Given the description of an element on the screen output the (x, y) to click on. 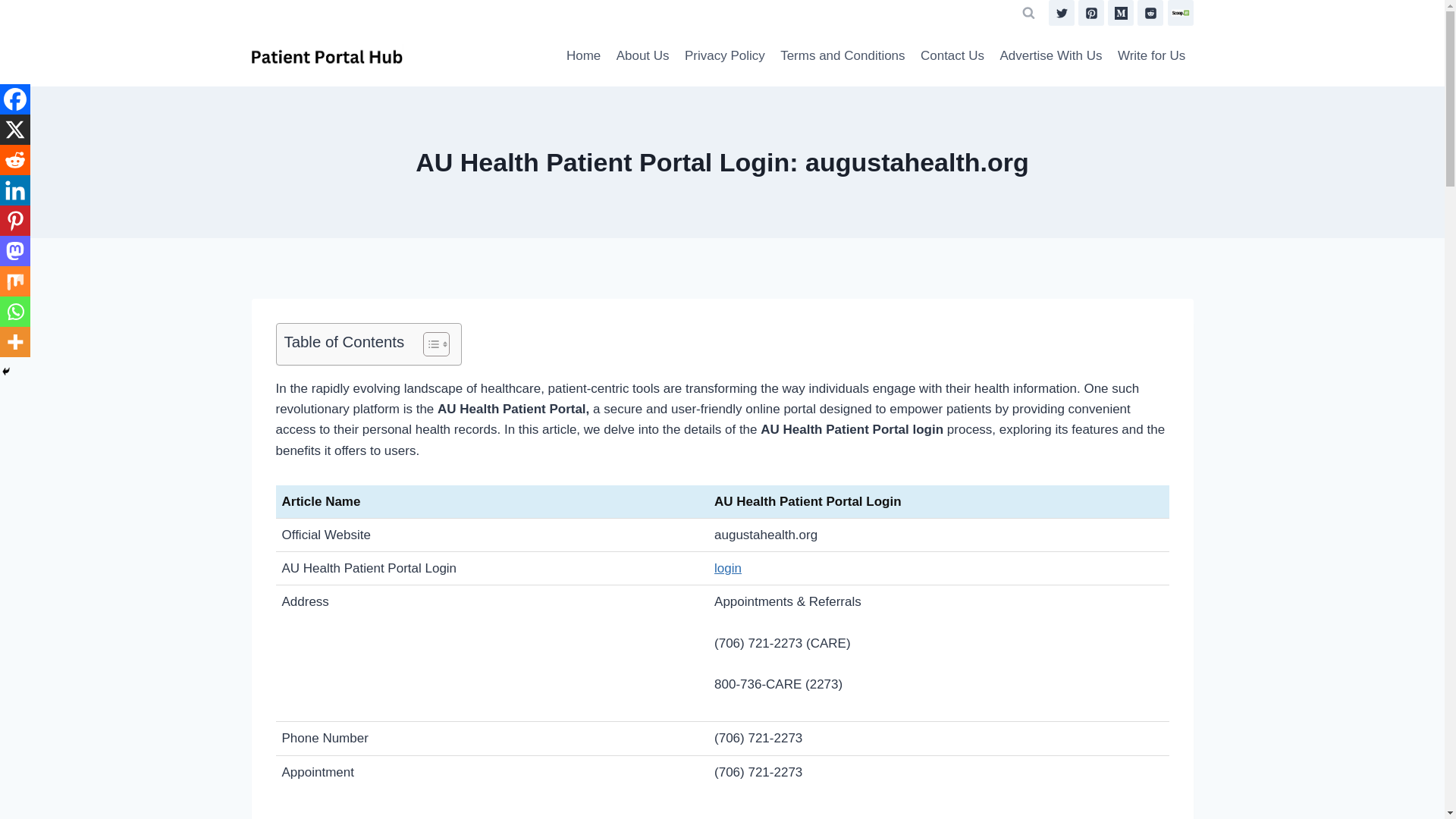
login (727, 568)
Advertise With Us (1050, 55)
About Us (642, 55)
Home (583, 55)
Terms and Conditions (842, 55)
Contact Us (951, 55)
Write for Us (1151, 55)
Privacy Policy (725, 55)
